Given the description of an element on the screen output the (x, y) to click on. 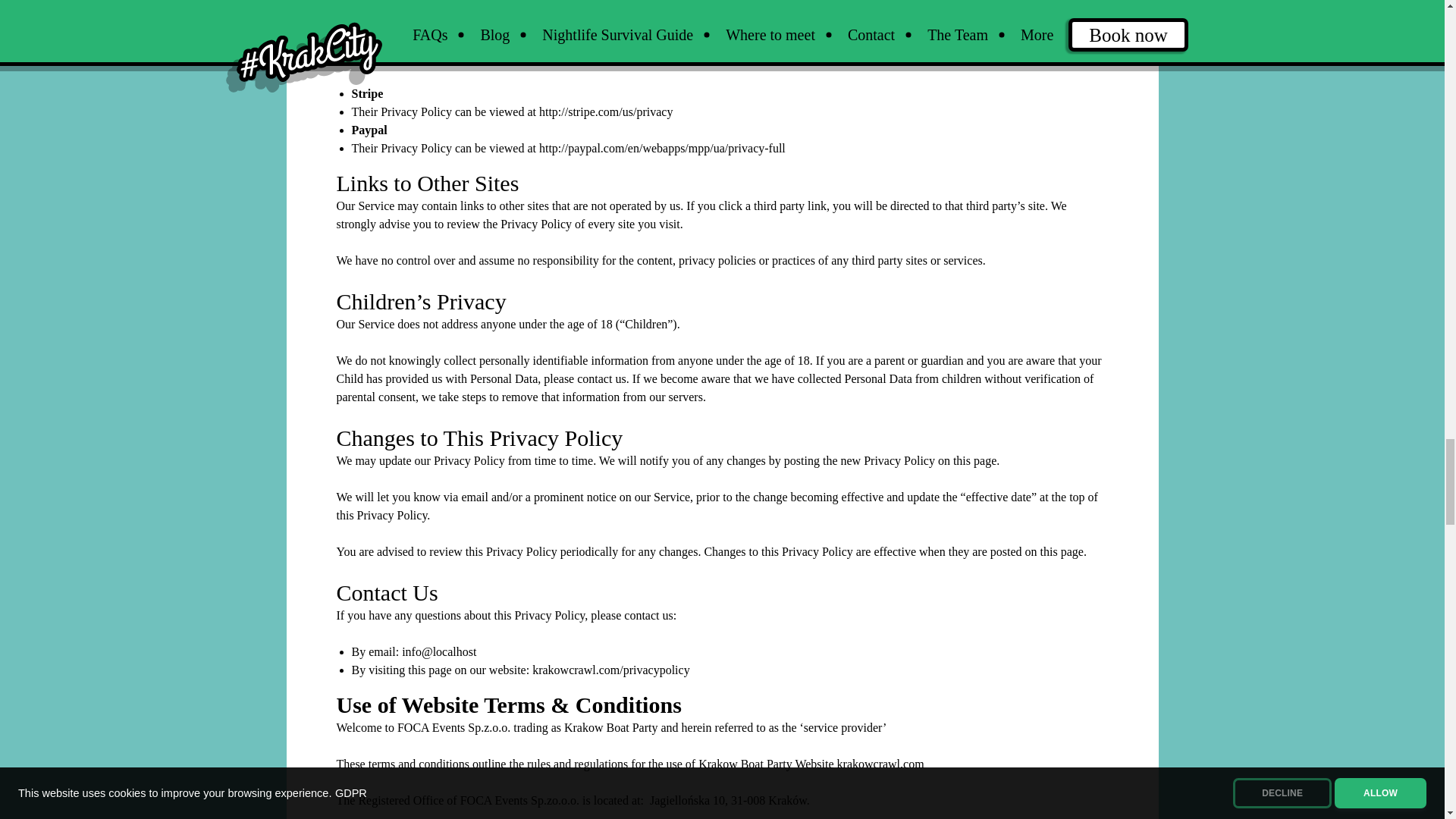
krakowcrawl.com (880, 763)
